Given the description of an element on the screen output the (x, y) to click on. 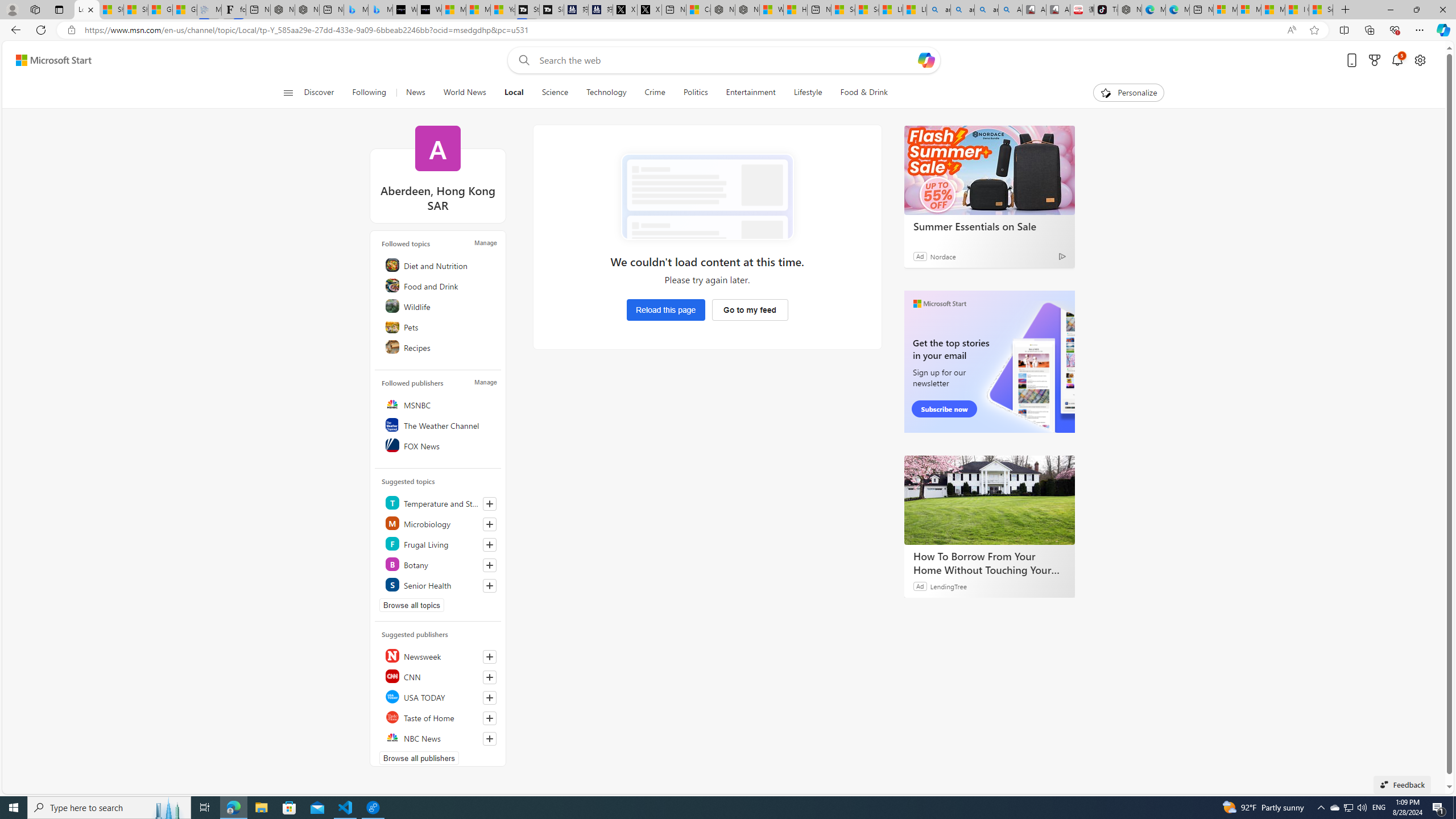
Lifestyle (807, 92)
Politics (694, 92)
NBC News (439, 737)
Amazon Echo Robot - Search Images (1009, 9)
Microsoft rewards (1374, 60)
The Weather Channel (439, 425)
Summer Essentials on Sale (989, 169)
Open navigation menu (287, 92)
Diet and Nutrition (439, 264)
Browse all publishers (419, 757)
Follow this source (489, 738)
